Given the description of an element on the screen output the (x, y) to click on. 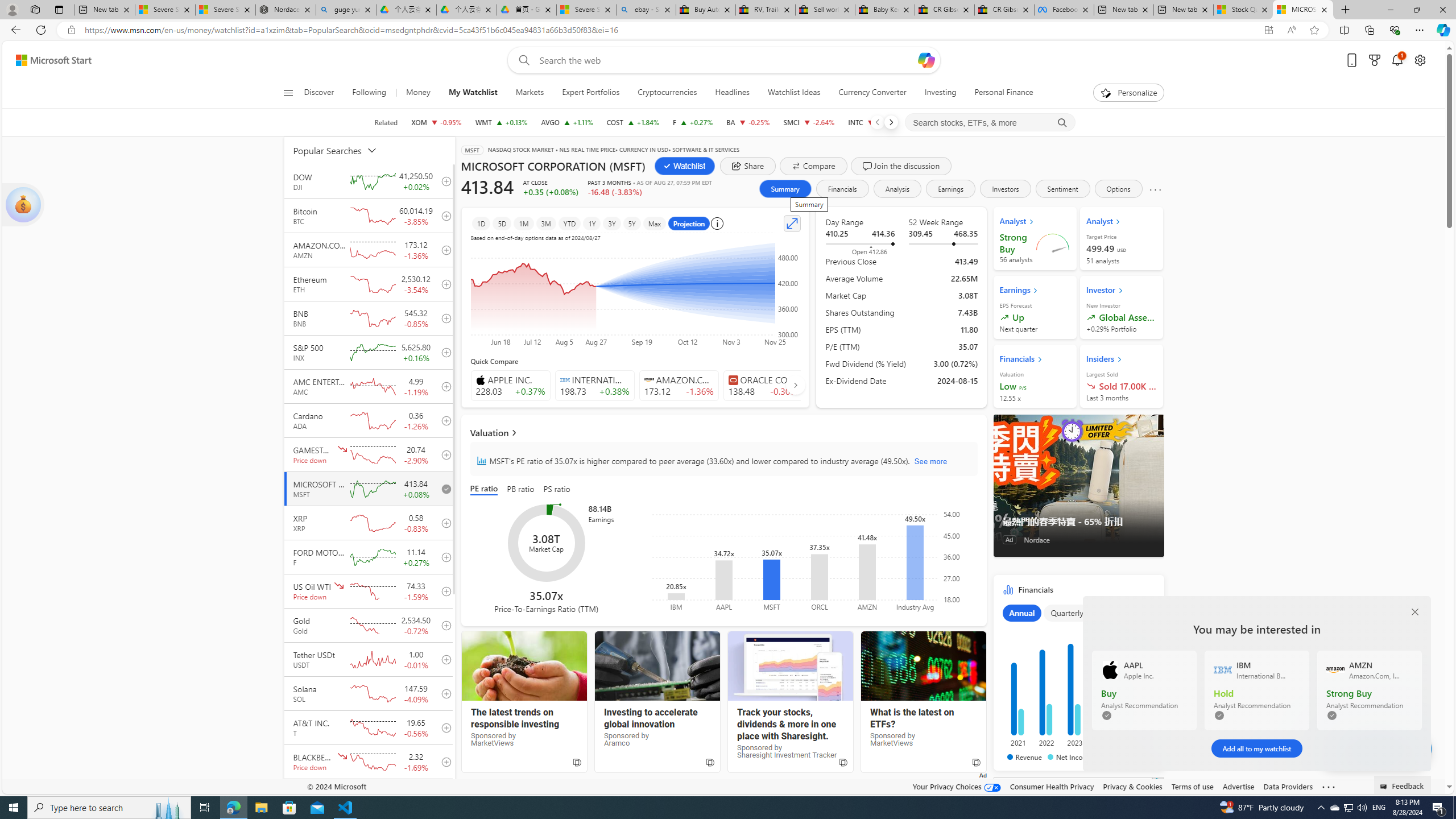
Expert Portfolios (590, 92)
Split screen (1344, 29)
Read aloud this page (Ctrl+Shift+U) (1291, 29)
Consumer Health Privacy (1051, 785)
Projection (689, 223)
Watchlist (684, 166)
Web search (520, 60)
1D (480, 223)
Skip to content (49, 59)
Class: recharts-surface (811, 559)
remove from your watchlist (442, 488)
XOM EXXON MOBIL CORPORATION decrease 117.68 -1.13 -0.95% (436, 122)
